Given the description of an element on the screen output the (x, y) to click on. 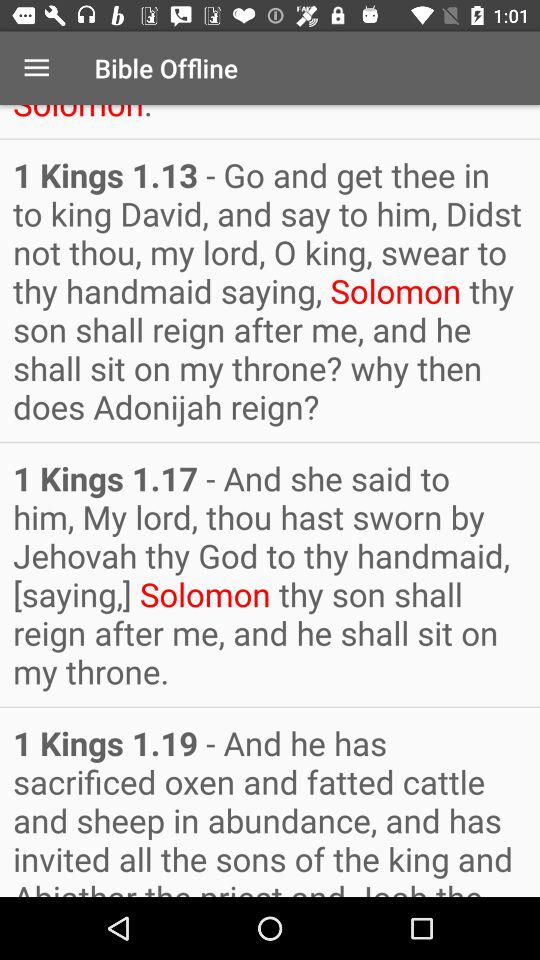
press the item to the left of the bible offline item (36, 68)
